Given the description of an element on the screen output the (x, y) to click on. 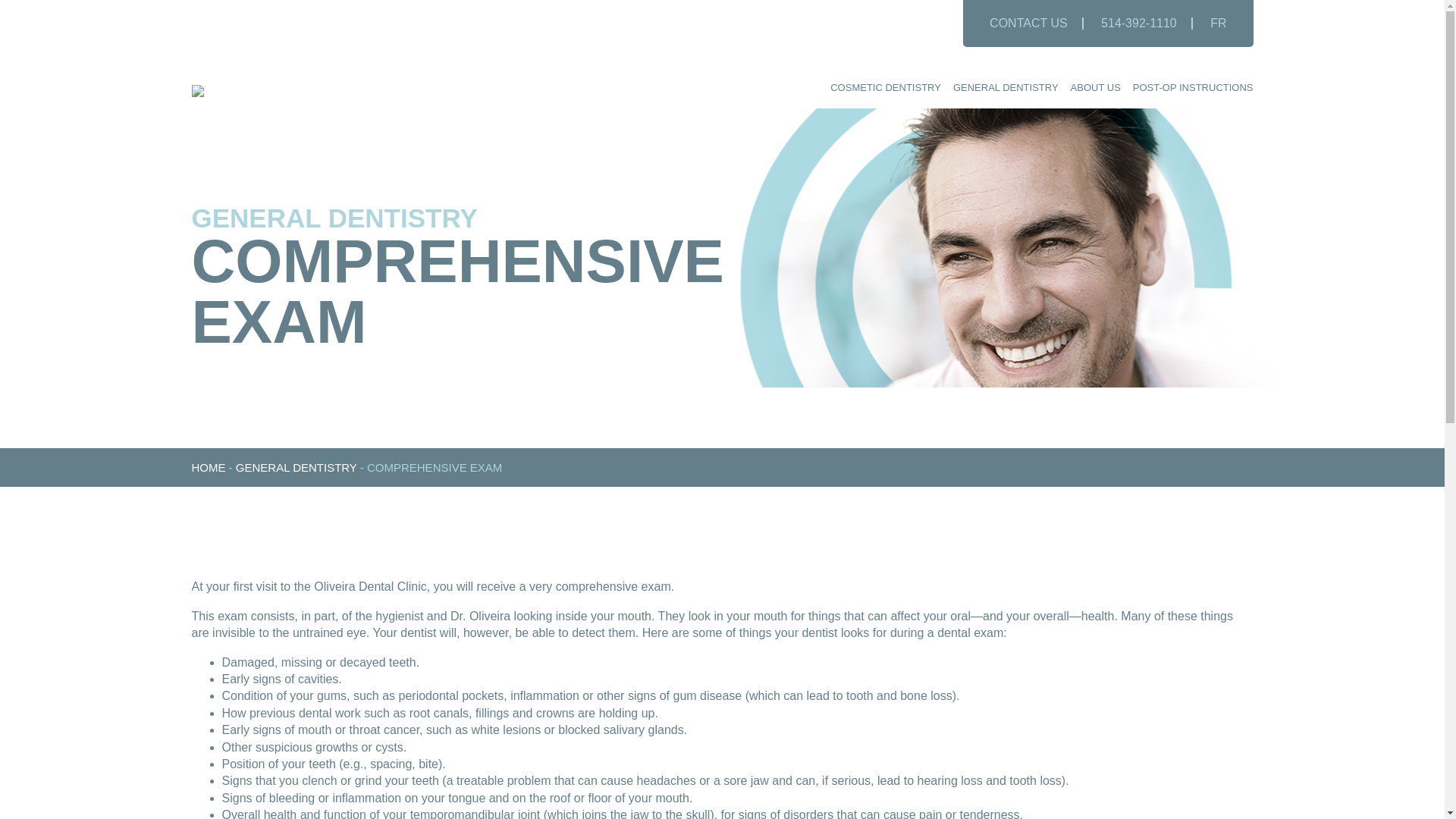
FR (1218, 23)
514-392-1110 (1139, 23)
POST-OP INSTRUCTIONS (1192, 87)
GENERAL DENTISTRY (1005, 87)
COSMETIC DENTISTRY (884, 87)
CONTACT US (1028, 23)
ABOUT US (1095, 87)
GENERAL DENTISTRY (295, 467)
HOME (207, 467)
